Given the description of an element on the screen output the (x, y) to click on. 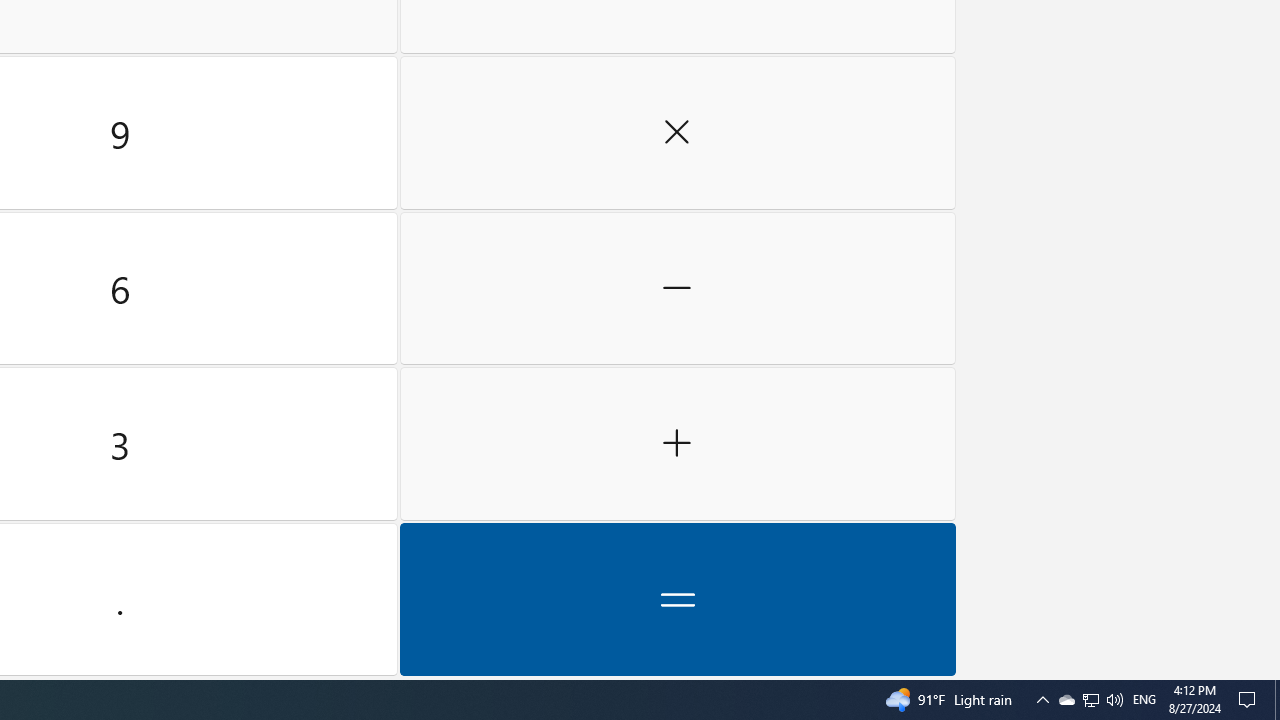
Minus (677, 288)
Multiply by (677, 133)
Equals (677, 599)
Plus (677, 444)
